Given the description of an element on the screen output the (x, y) to click on. 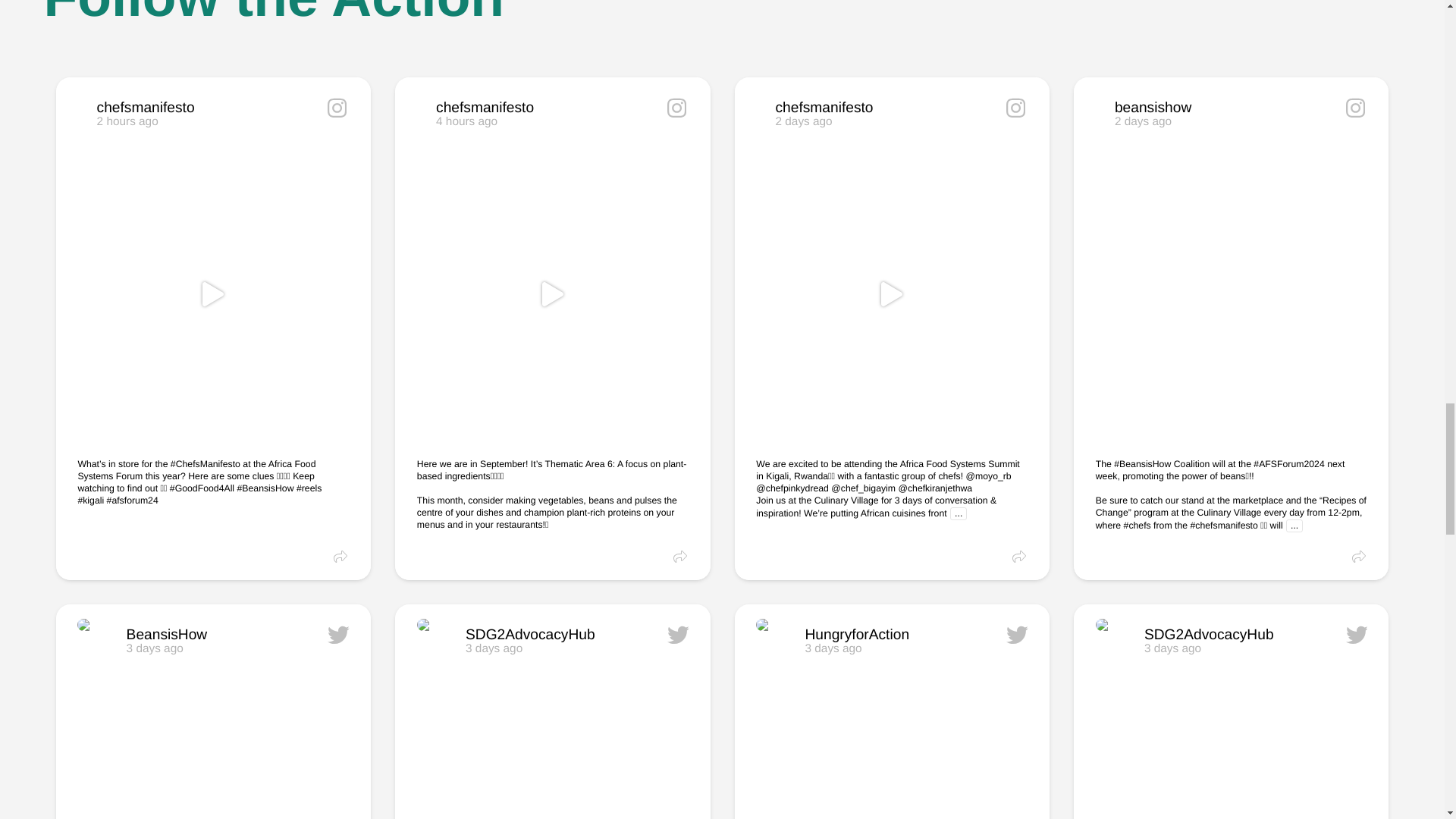
Share 18041011363852405 (827, 110)
... (341, 558)
... (149, 110)
Share 18020051855589460 (958, 513)
Share 17939592488891470 (486, 549)
